Given the description of an element on the screen output the (x, y) to click on. 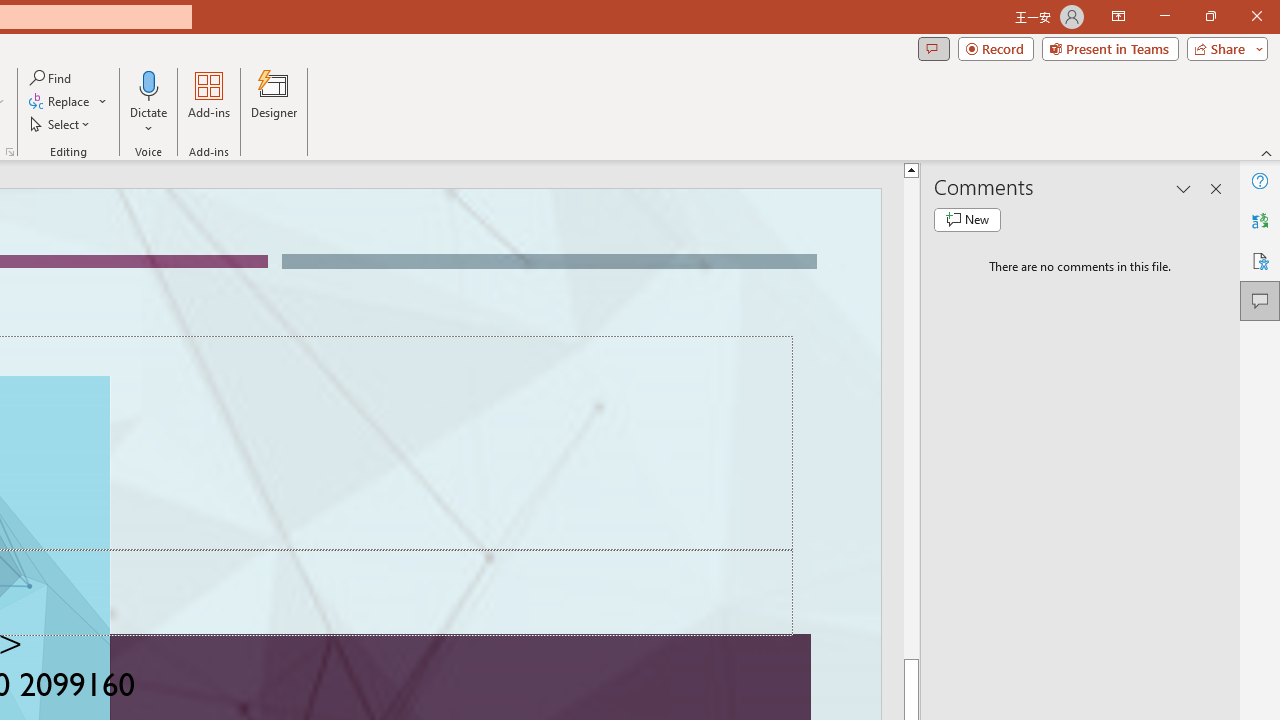
New comment (967, 219)
